Given the description of an element on the screen output the (x, y) to click on. 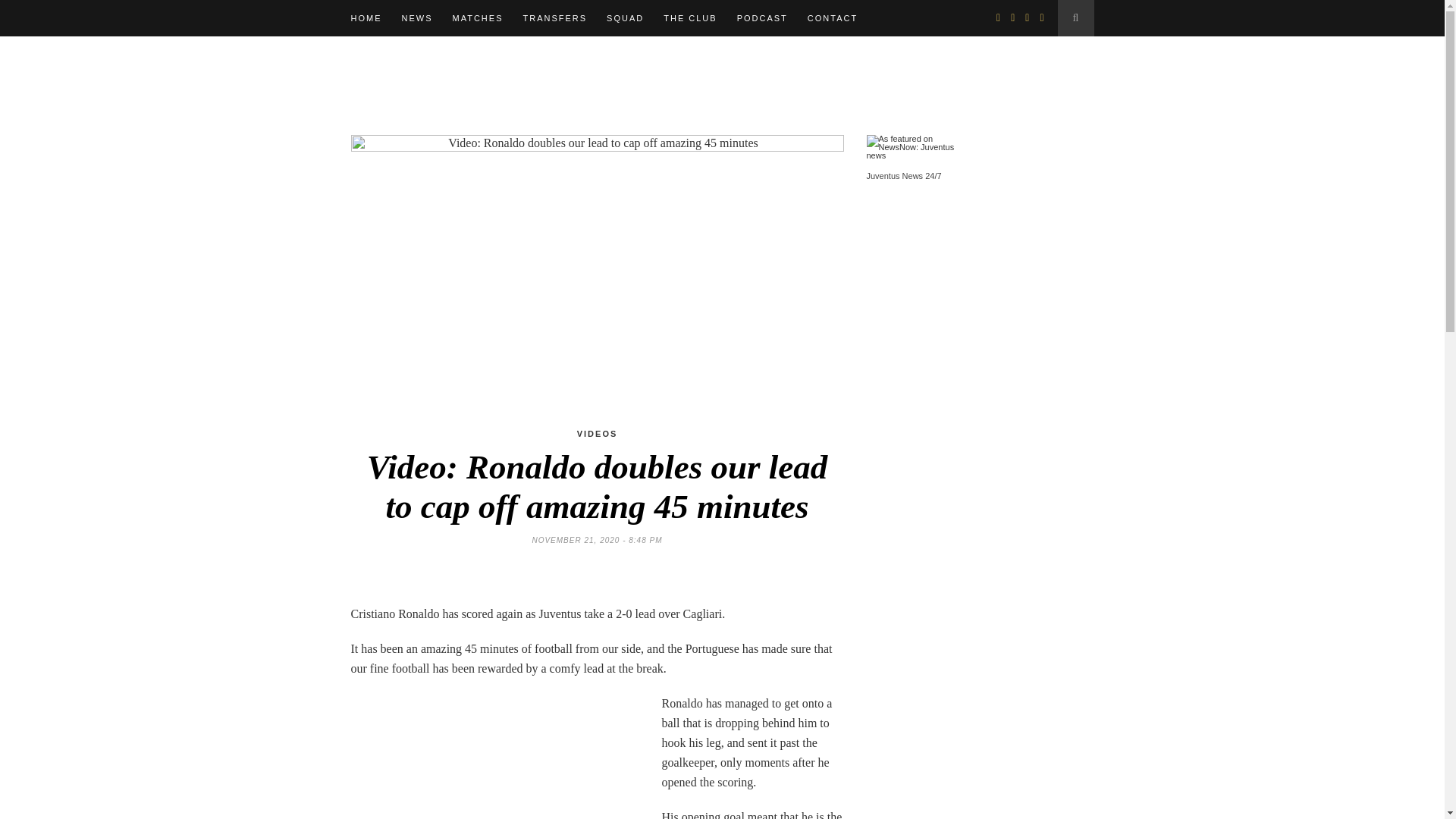
Contact (832, 18)
Matches (476, 18)
SQUAD (625, 18)
The Club (689, 18)
Squad (625, 18)
View all posts in Videos (596, 433)
MATCHES (476, 18)
TRANSFERS (554, 18)
CONTACT (832, 18)
